Given the description of an element on the screen output the (x, y) to click on. 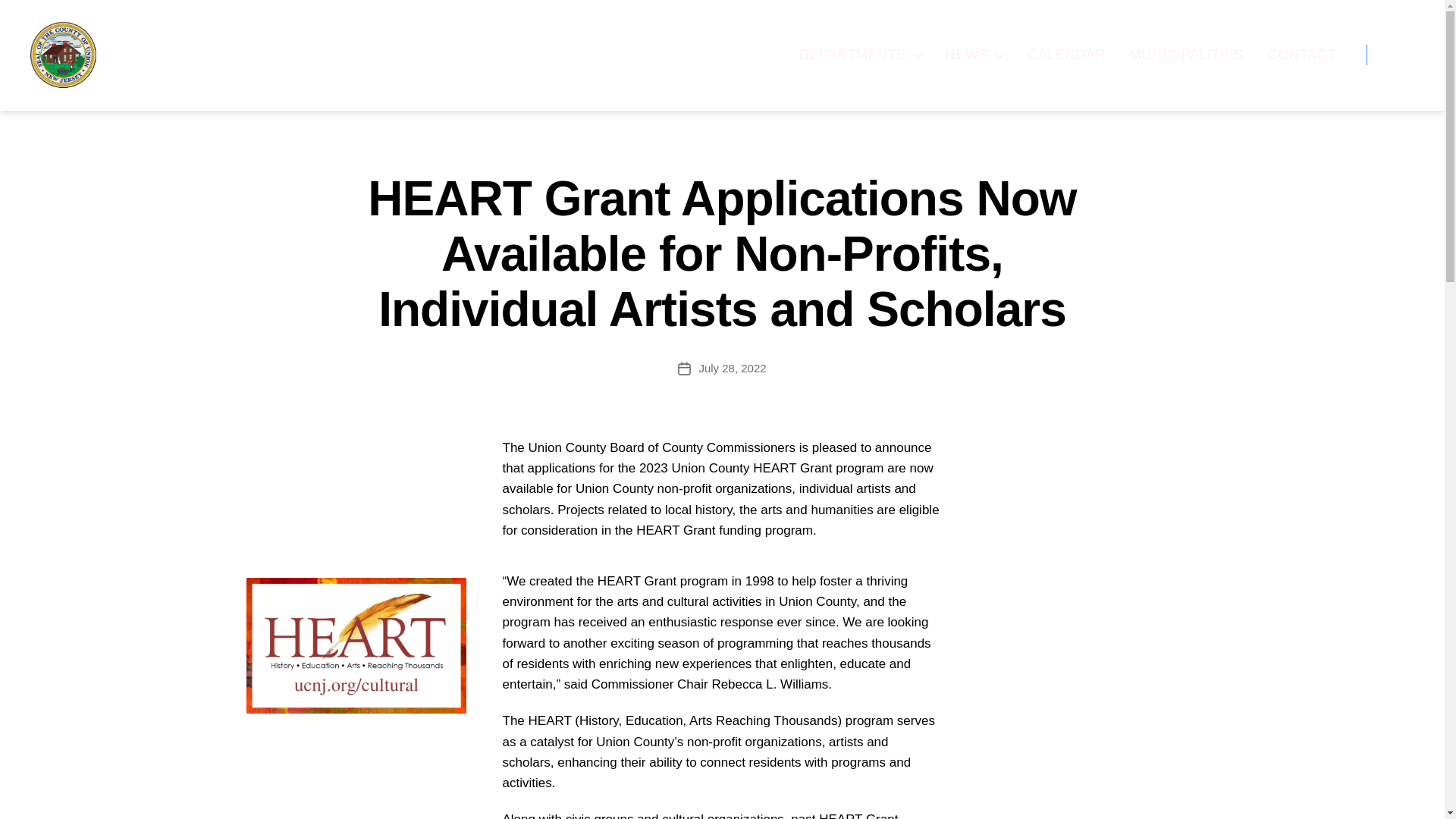
NEWS (973, 54)
DEPARTMENTS (860, 54)
CALENDAR (1066, 54)
MUNICIPALITIES (1186, 54)
CONTACT (1302, 54)
